Given the description of an element on the screen output the (x, y) to click on. 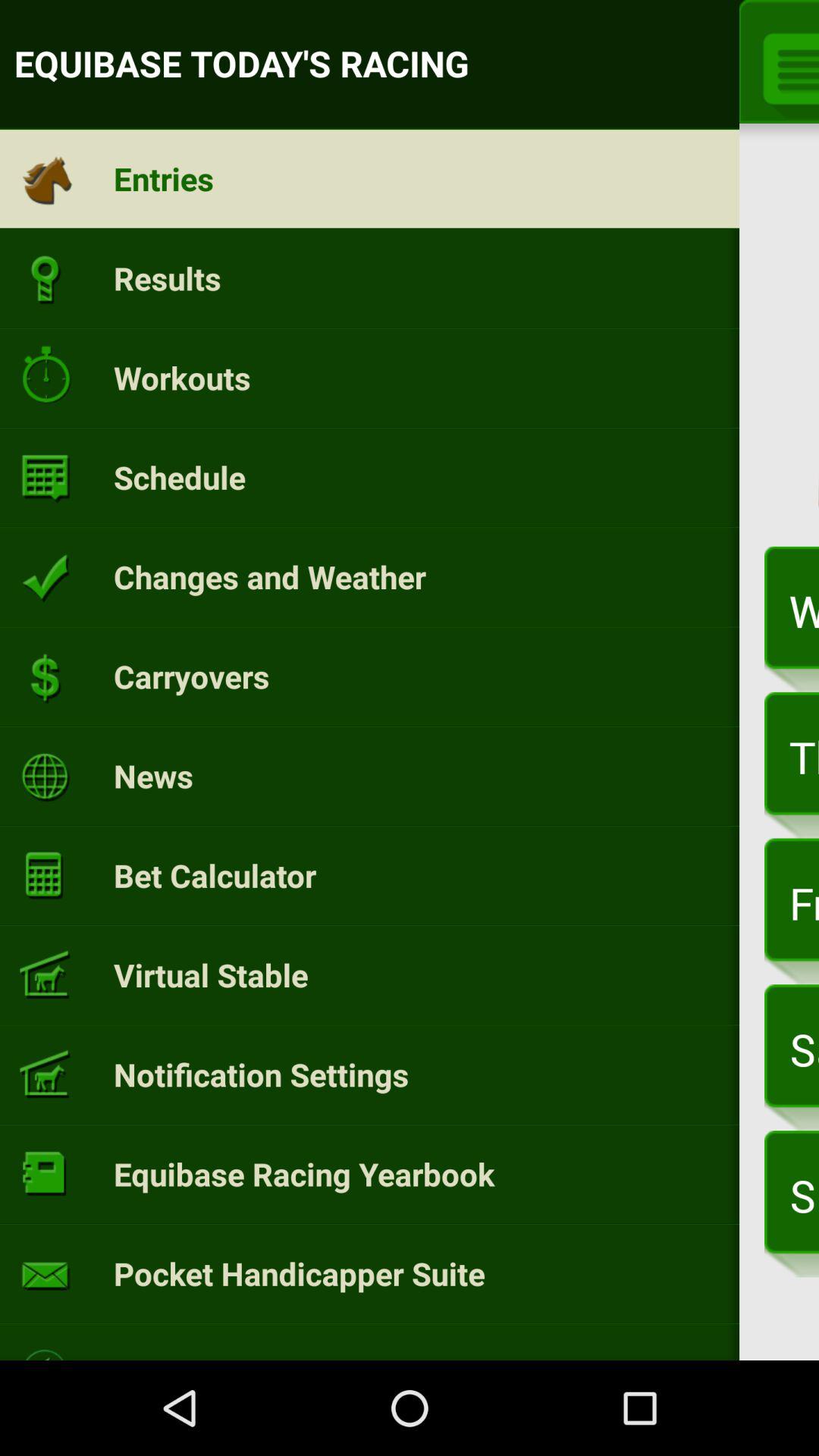
toggle menu (785, 66)
